Given the description of an element on the screen output the (x, y) to click on. 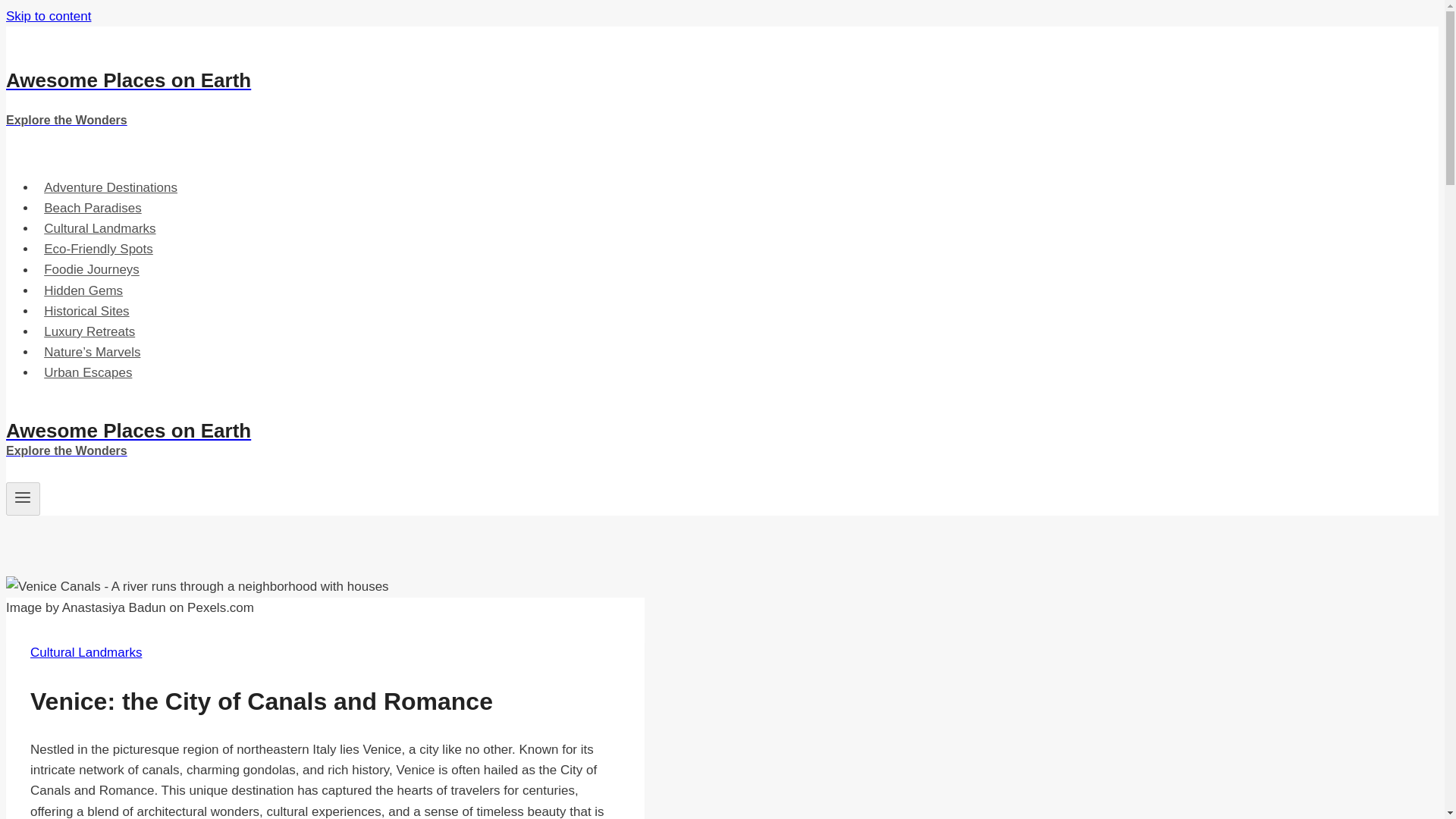
Luxury Retreats (89, 331)
Foodie Journeys (91, 269)
Hidden Gems (83, 290)
Toggle Menu (22, 497)
Historical Sites (86, 310)
Urban Escapes (87, 372)
Beach Paradises (494, 98)
Cultural Landmarks (92, 207)
Adventure Destinations (99, 228)
Eco-Friendly Spots (110, 187)
Cultural Landmarks (98, 248)
Skip to content (85, 652)
Skip to content (47, 16)
Toggle Menu (47, 16)
